Given the description of an element on the screen output the (x, y) to click on. 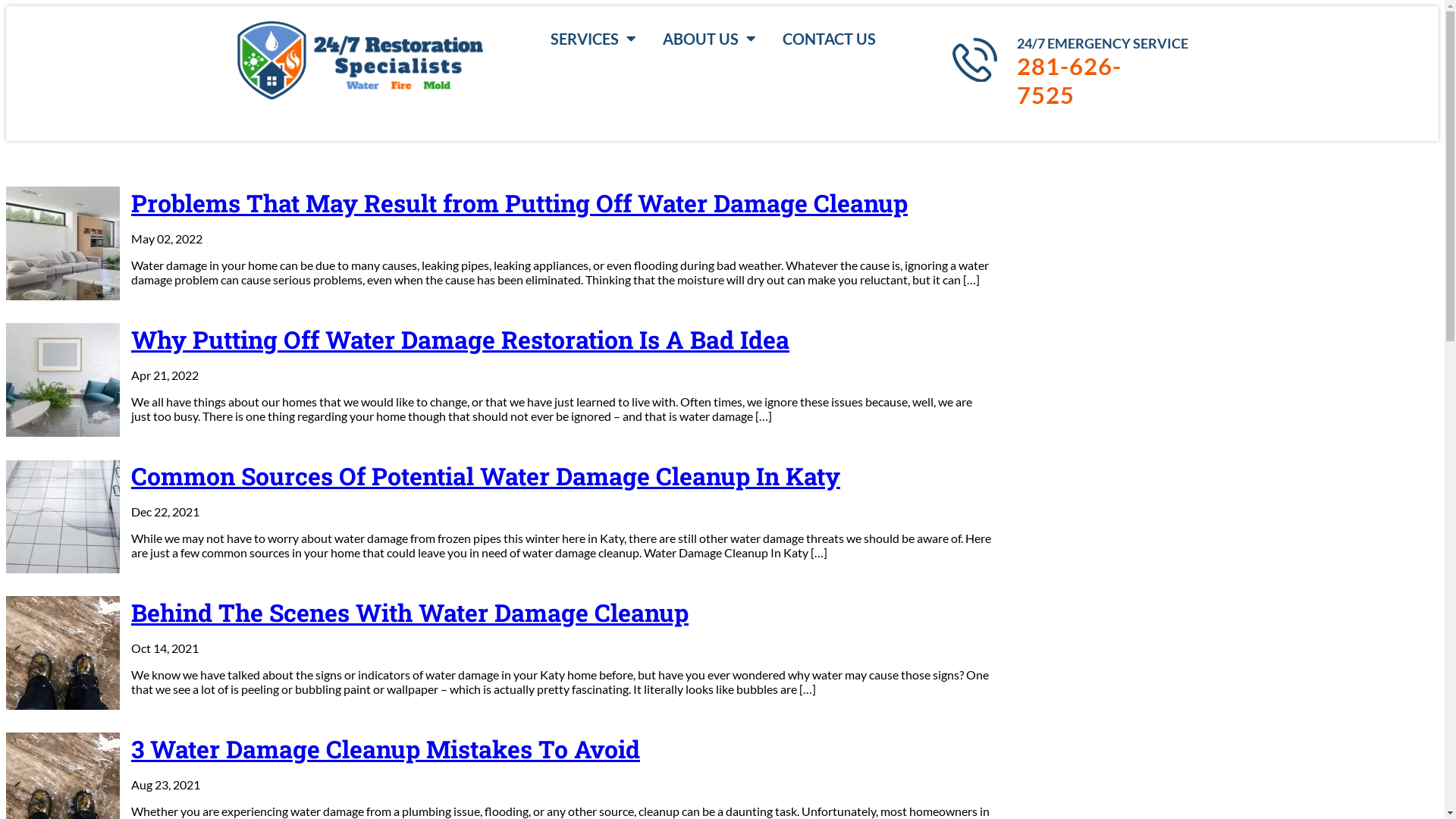
ABOUT US Element type: text (709, 38)
24/7 EMERGENCY SERVICE Element type: text (1102, 42)
3 Water Damage Cleanup Mistakes To Avoid Element type: text (498, 748)
Why Putting Off Water Damage Restoration Is A Bad Idea Element type: text (498, 339)
281-626-7525 Element type: text (1095, 79)
SERVICES Element type: text (593, 38)
Common Sources Of Potential Water Damage Cleanup In Katy Element type: text (498, 475)
CONTACT US Element type: text (828, 38)
Behind The Scenes With Water Damage Cleanup Element type: text (498, 612)
